Given the description of an element on the screen output the (x, y) to click on. 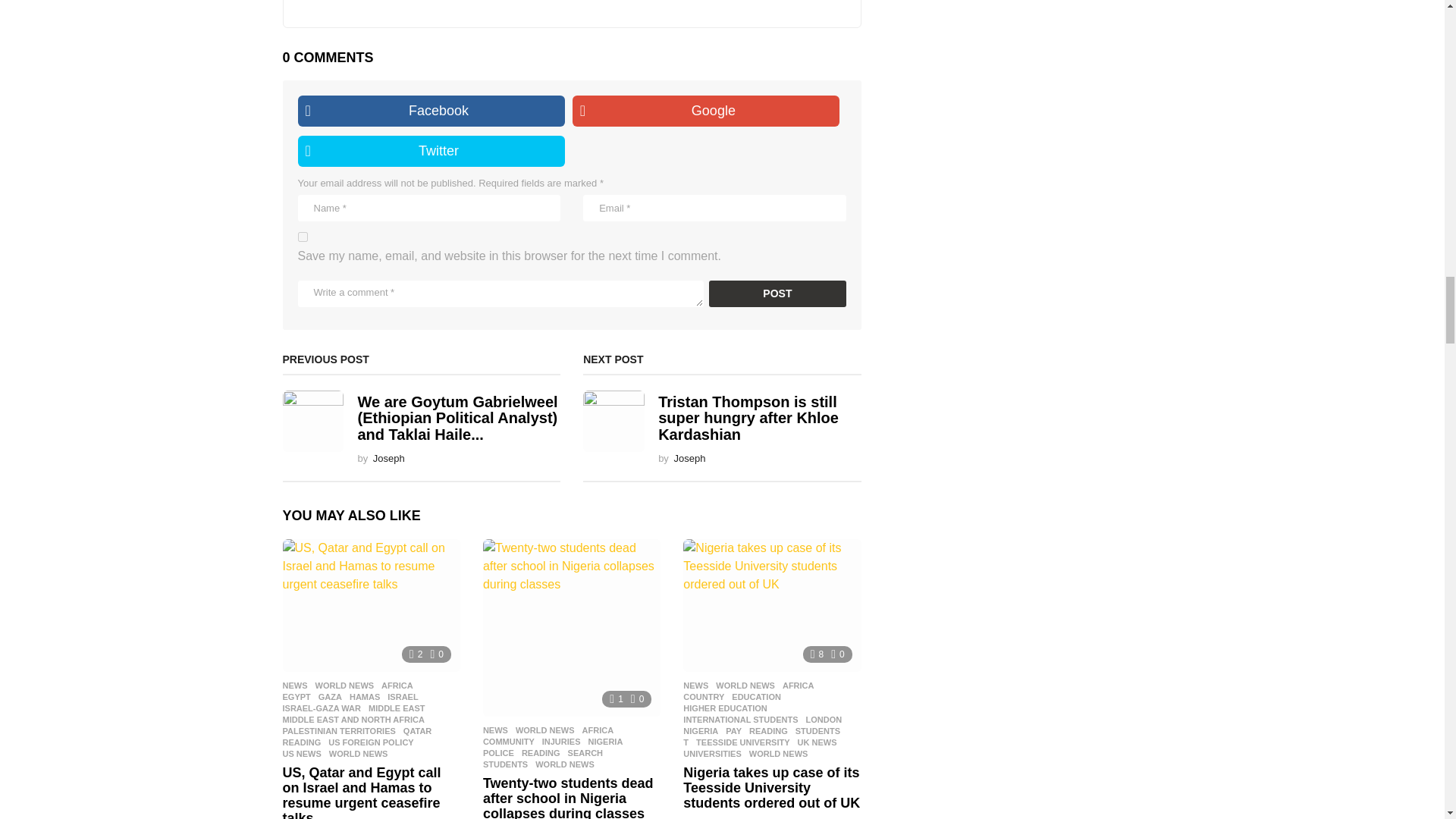
Post (777, 293)
yes (302, 236)
